Given the description of an element on the screen output the (x, y) to click on. 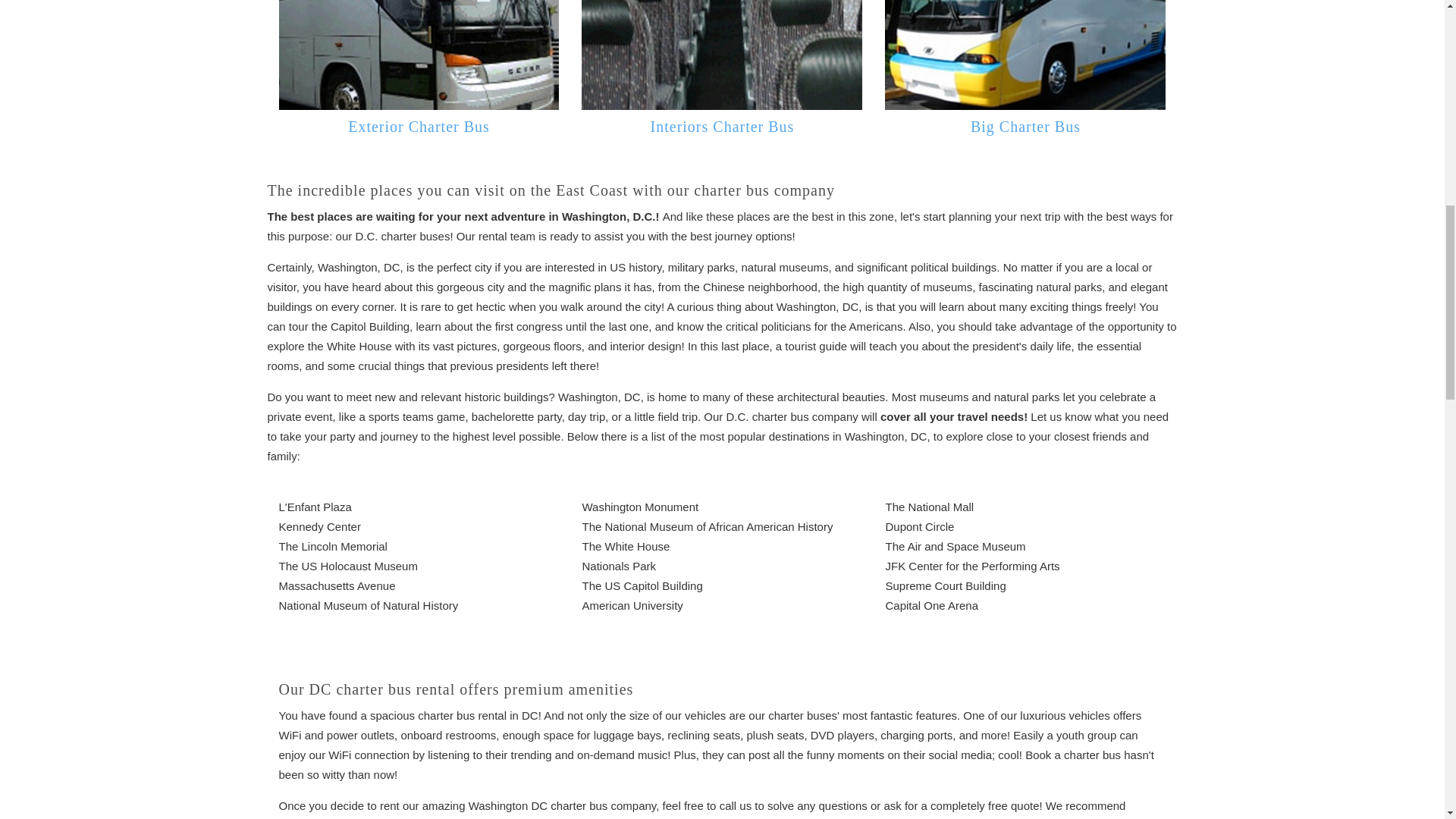
Big Charter Bus (1025, 126)
Interiors Charter Bus (722, 126)
Exterior Charter Bus (418, 126)
